Given the description of an element on the screen output the (x, y) to click on. 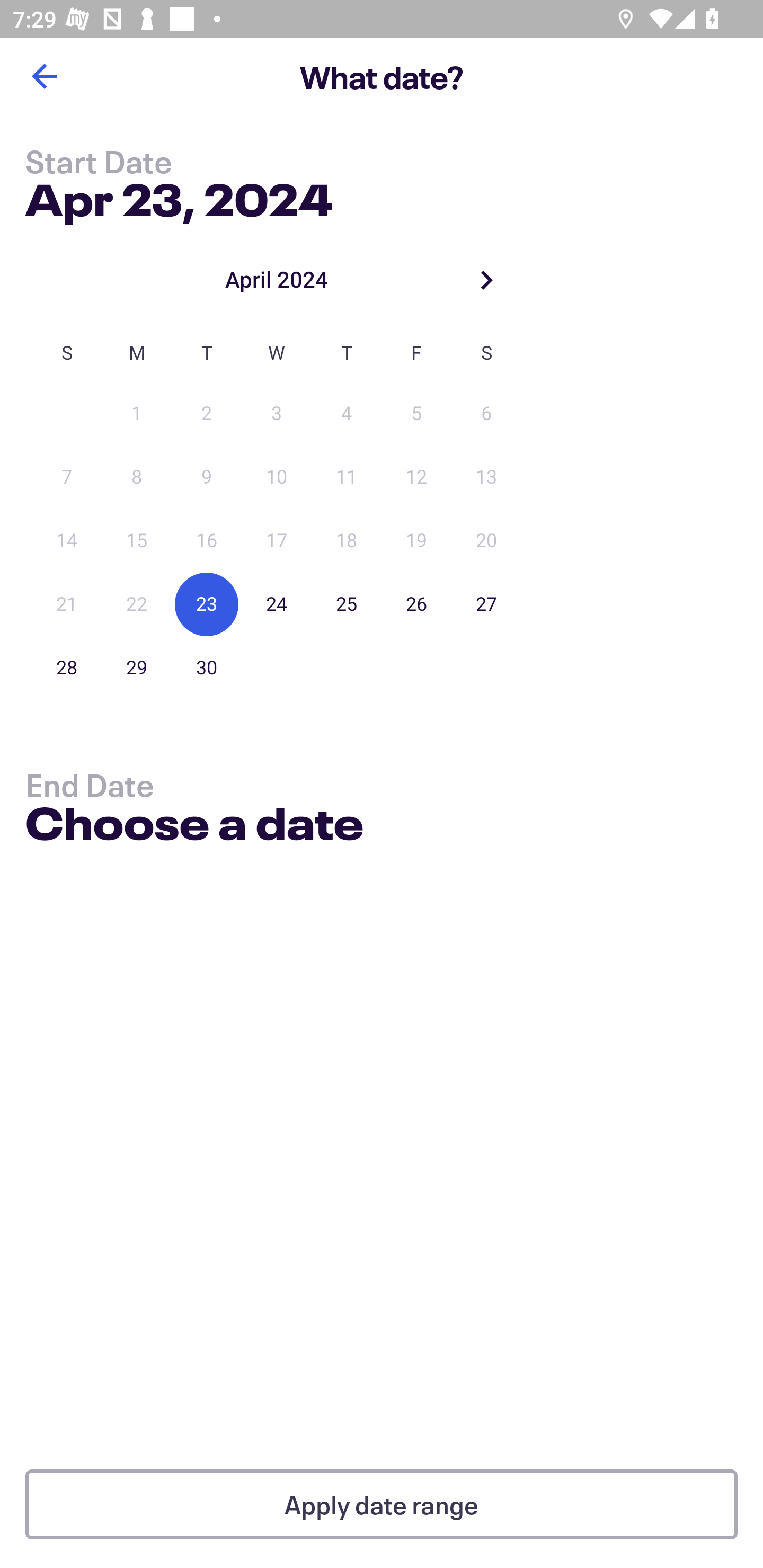
Back button (44, 75)
Apr 23, 2024 (178, 195)
Next month (486, 279)
1 01 April 2024 (136, 413)
2 02 April 2024 (206, 413)
3 03 April 2024 (276, 413)
4 04 April 2024 (346, 413)
5 05 April 2024 (416, 413)
6 06 April 2024 (486, 413)
7 07 April 2024 (66, 477)
8 08 April 2024 (136, 477)
9 09 April 2024 (206, 477)
10 10 April 2024 (276, 477)
11 11 April 2024 (346, 477)
12 12 April 2024 (416, 477)
13 13 April 2024 (486, 477)
14 14 April 2024 (66, 540)
15 15 April 2024 (136, 540)
16 16 April 2024 (206, 540)
17 17 April 2024 (276, 540)
18 18 April 2024 (346, 540)
19 19 April 2024 (416, 540)
20 20 April 2024 (486, 540)
21 21 April 2024 (66, 604)
22 22 April 2024 (136, 604)
23 23 April 2024 (206, 604)
24 24 April 2024 (276, 604)
25 25 April 2024 (346, 604)
26 26 April 2024 (416, 604)
27 27 April 2024 (486, 604)
28 28 April 2024 (66, 667)
29 29 April 2024 (136, 667)
30 30 April 2024 (206, 667)
Choose a date (194, 826)
Apply date range (381, 1504)
